Given the description of an element on the screen output the (x, y) to click on. 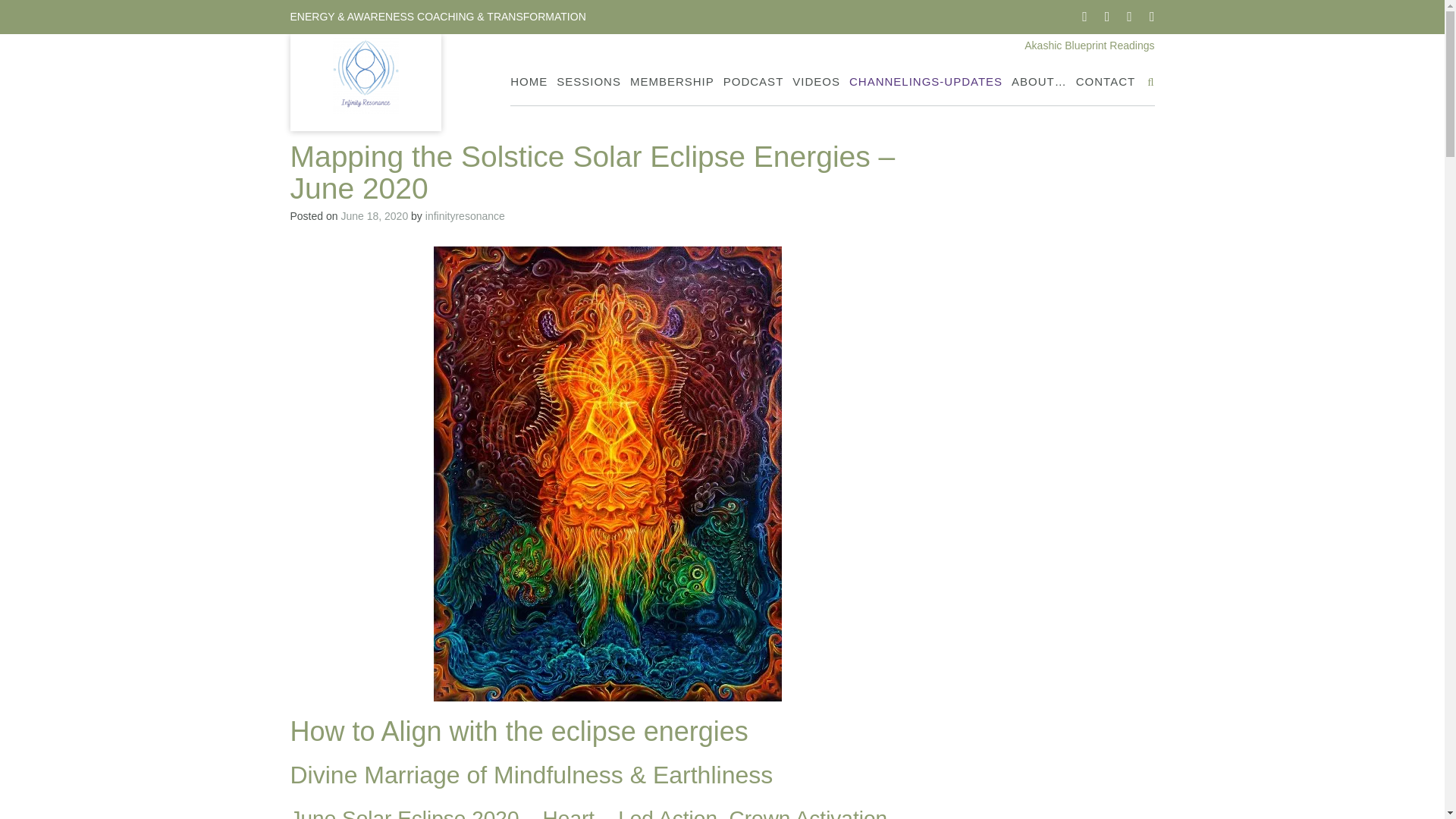
June 18, 2020 (373, 215)
PODCAST (753, 81)
CHANNELINGS-UPDATES (925, 81)
VIDEOS (816, 81)
HOME (529, 81)
MEMBERSHIP (672, 81)
SESSIONS (588, 81)
CONTACT (1105, 81)
infinityresonance (465, 215)
